Given the description of an element on the screen output the (x, y) to click on. 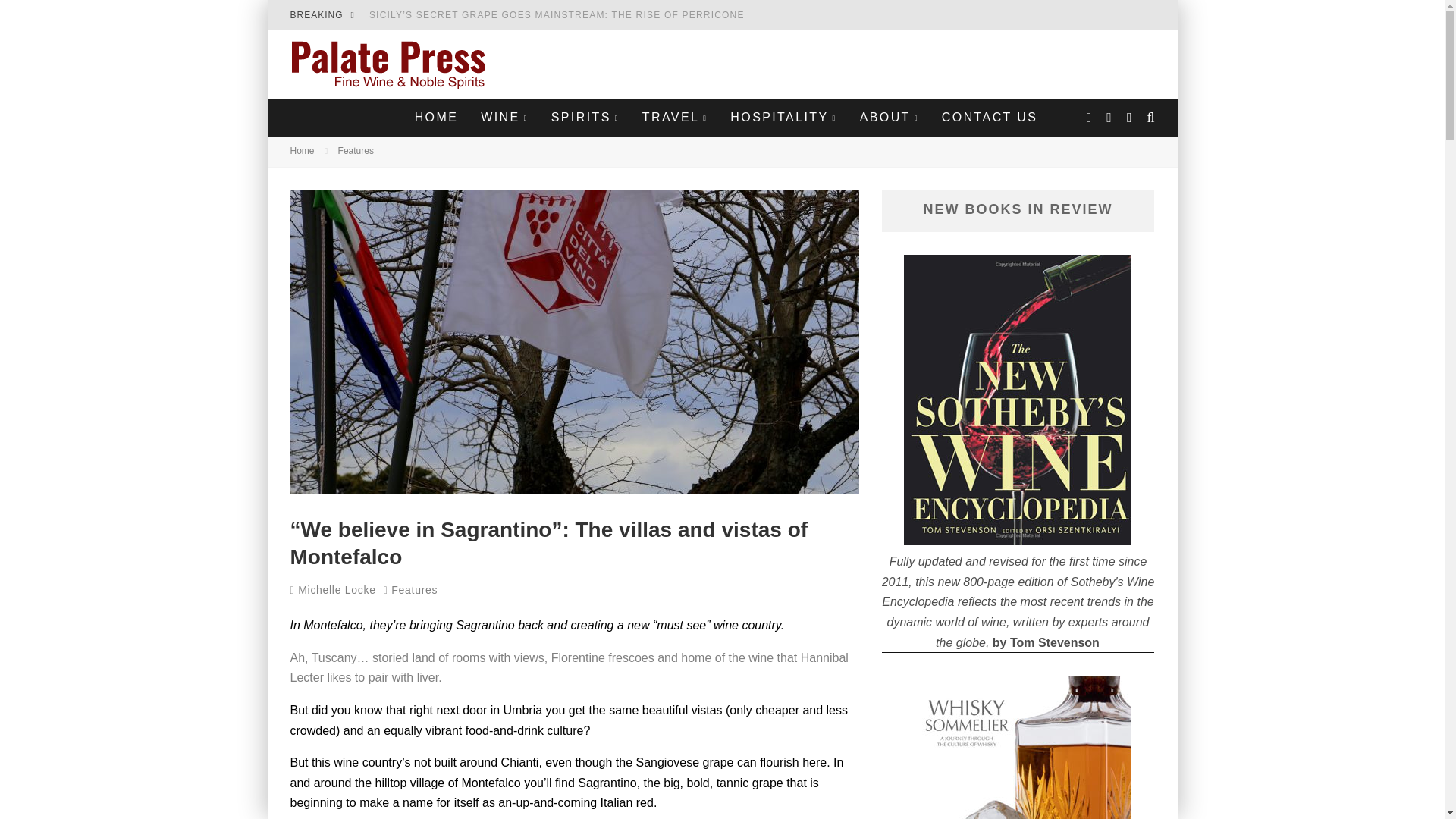
SPIRITS (585, 117)
HOME (436, 117)
WINE (503, 117)
